Given the description of an element on the screen output the (x, y) to click on. 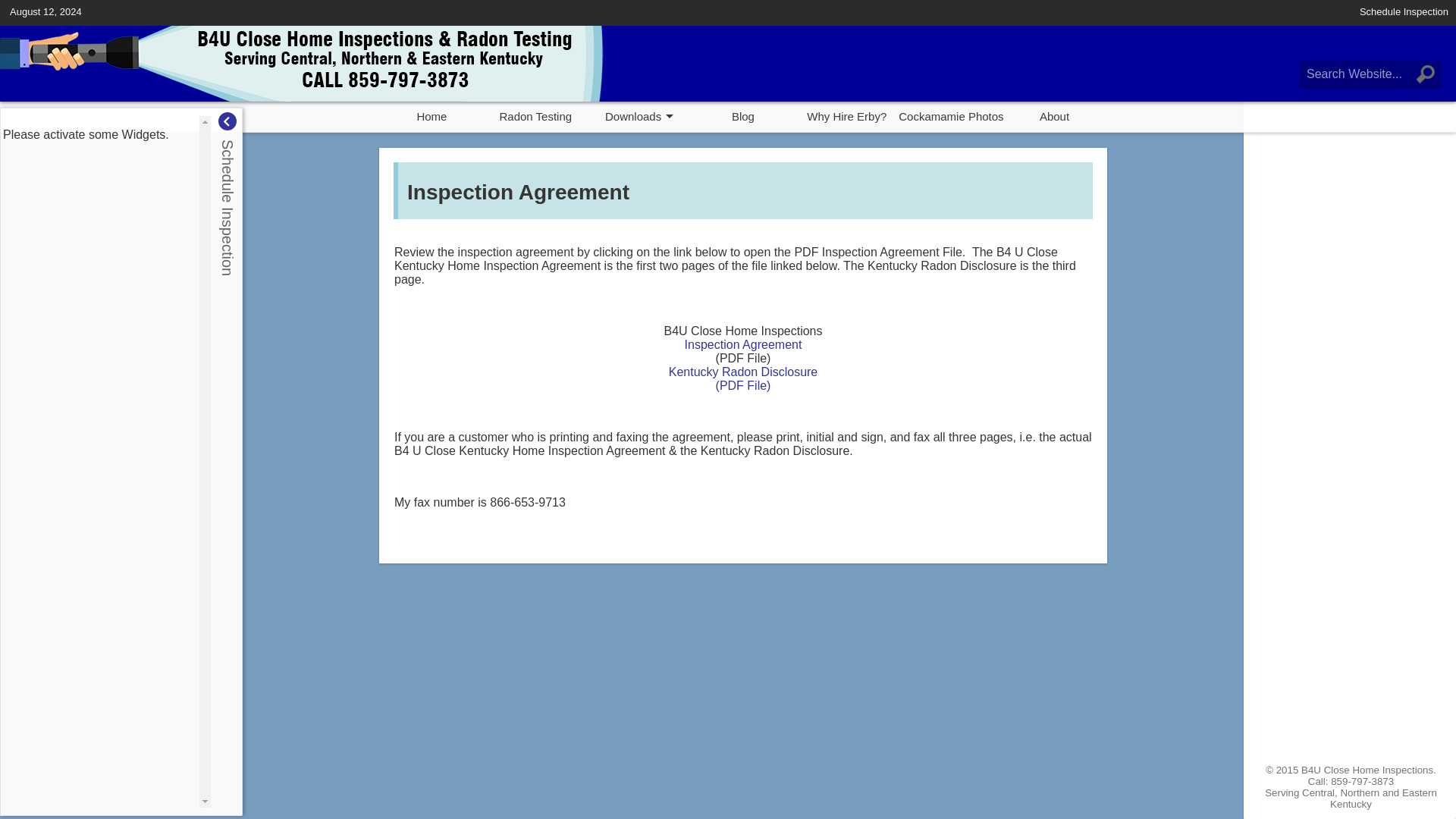
Radon Testing (535, 113)
Why Hire Erby? (846, 113)
Kentucky Radon Disclosure (743, 371)
Home (431, 113)
Inspection Agreement (743, 344)
Close Menu (227, 120)
Downloads (639, 113)
Blog (742, 113)
About (1054, 113)
Schedule Inspection (1403, 11)
